Given the description of an element on the screen output the (x, y) to click on. 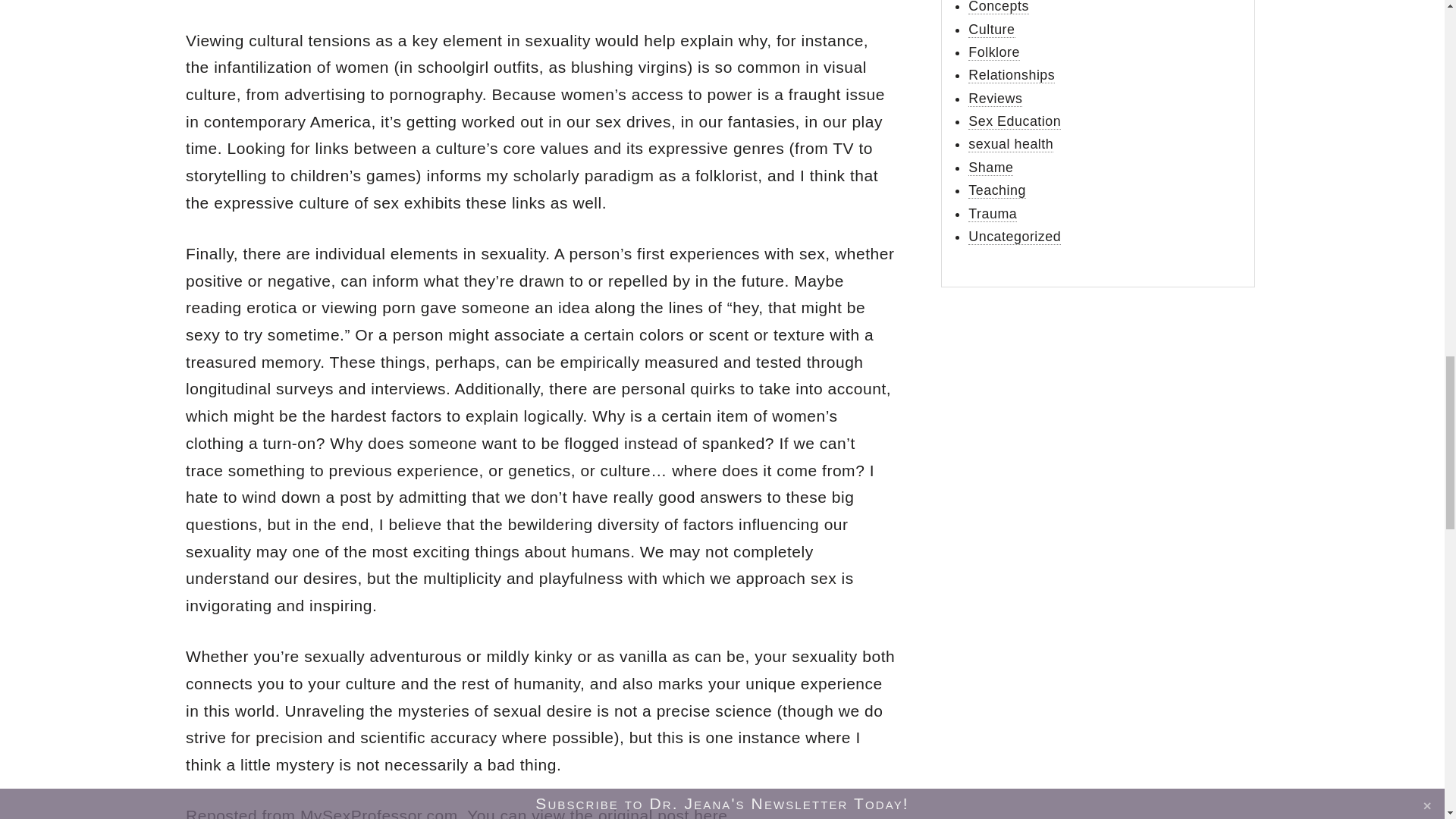
here (710, 812)
MySexProfessor.com (378, 812)
